Given the description of an element on the screen output the (x, y) to click on. 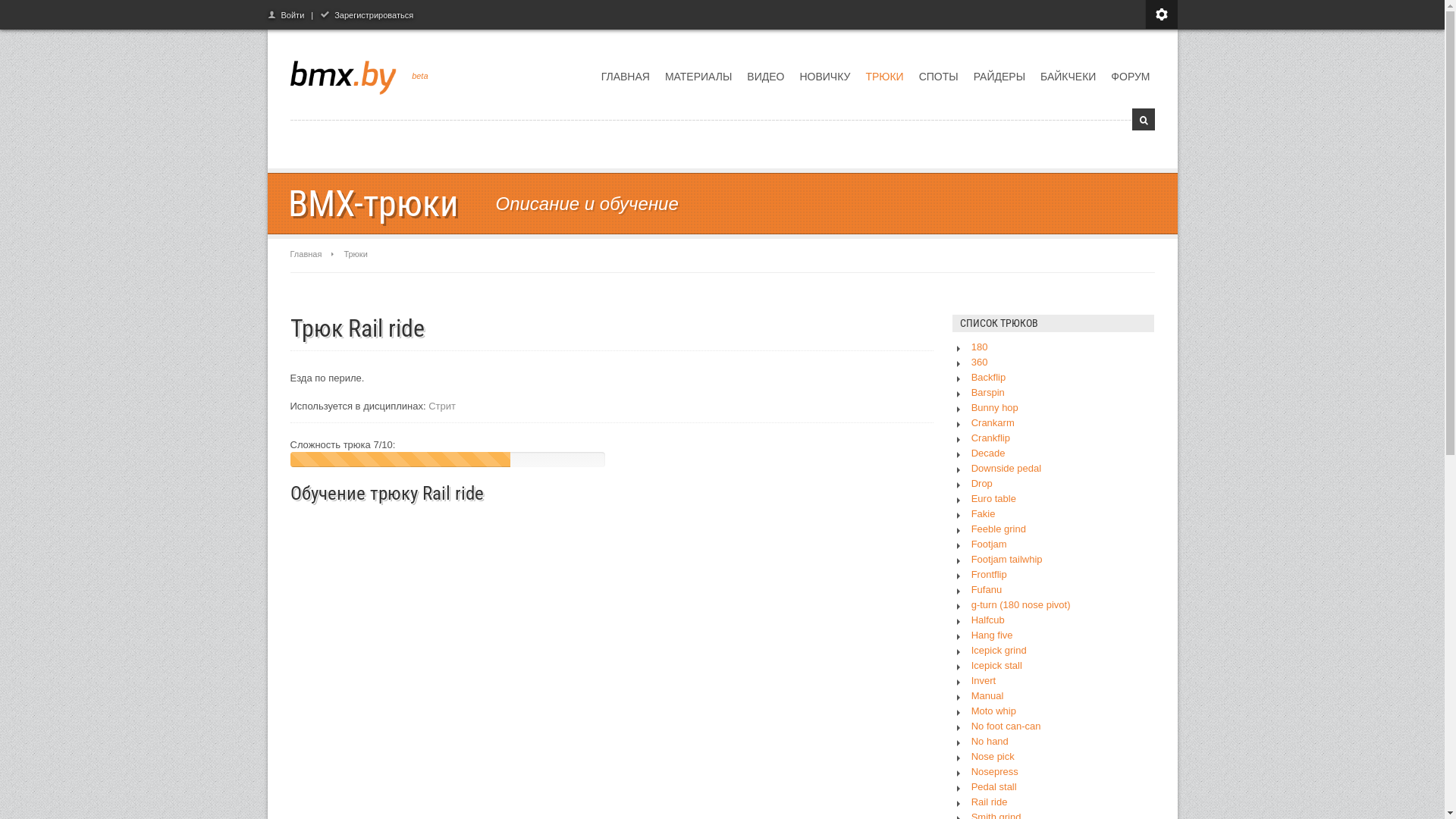
Barspin Element type: text (987, 392)
Invert Element type: text (983, 680)
Crankflip Element type: text (990, 437)
Icepick stall Element type: text (996, 665)
Nosepress Element type: text (994, 771)
Backflip Element type: text (988, 377)
Downside pedal Element type: text (1006, 468)
Feeble grind Element type: text (998, 528)
Drop Element type: text (981, 483)
Crankarm Element type: text (992, 422)
No hand Element type: text (989, 741)
360 Element type: text (979, 362)
Moto whip Element type: text (993, 710)
Fakie Element type: text (983, 513)
Fufanu Element type: text (986, 589)
Frontflip Element type: text (989, 574)
Hang five Element type: text (992, 635)
No foot can-can Element type: text (1006, 726)
Halfcub Element type: text (987, 619)
Pedal stall Element type: text (993, 786)
g-turn (180 nose pivot) Element type: text (1020, 604)
Icepick grind Element type: text (998, 650)
Manual Element type: text (987, 695)
beta Element type: text (419, 75)
Bunny hop Element type: text (994, 407)
180 Element type: text (979, 346)
L Element type: text (1142, 119)
Footjam Element type: text (989, 544)
Nose pick Element type: text (992, 756)
Rail ride Element type: text (989, 801)
Decade Element type: text (988, 453)
Footjam tailwhip Element type: text (1006, 559)
Euro table Element type: text (993, 498)
